Given the description of an element on the screen output the (x, y) to click on. 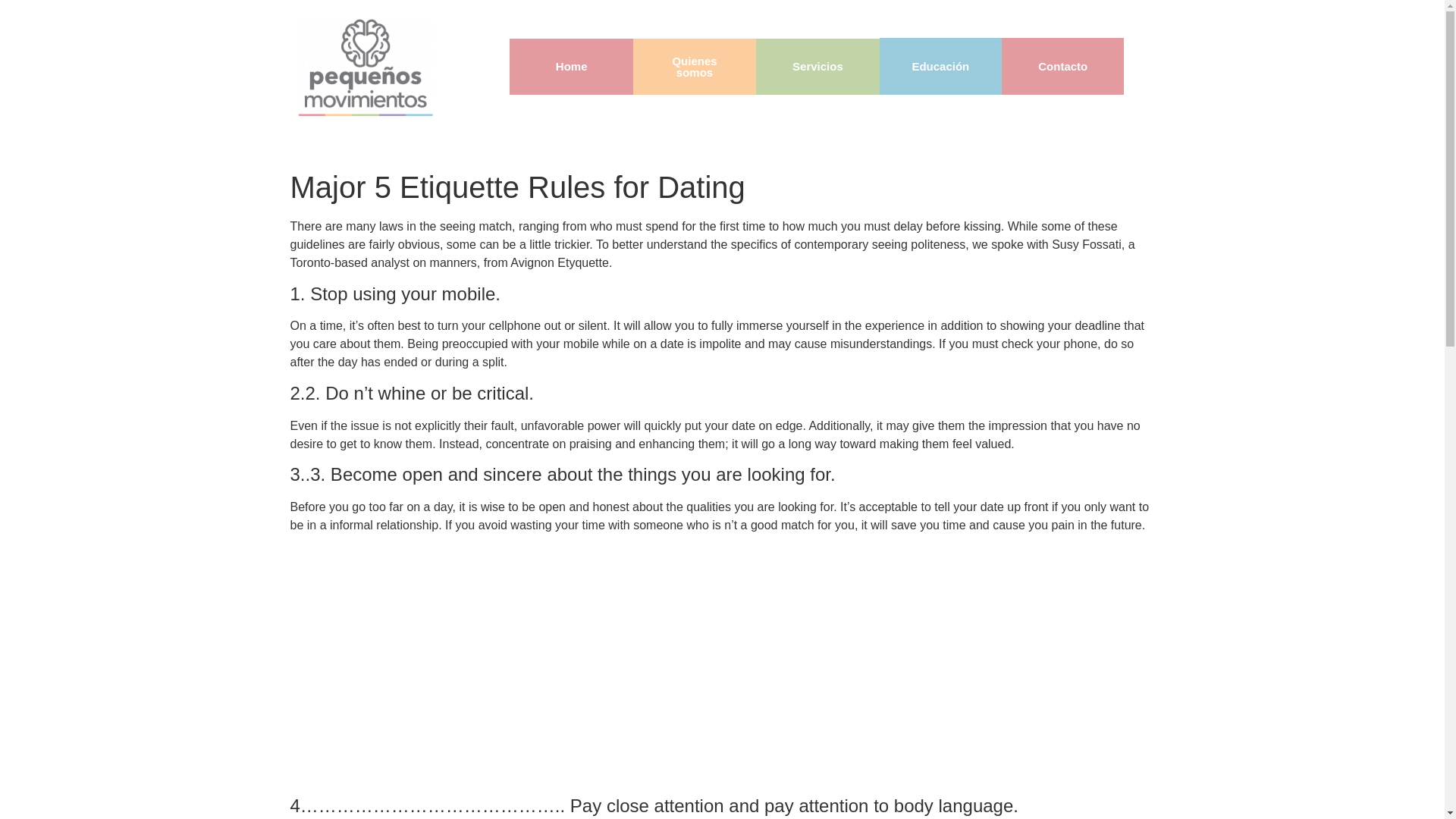
Contacto (1062, 66)
Quienes somos (694, 65)
Home (571, 66)
Servicios (817, 66)
